Given the description of an element on the screen output the (x, y) to click on. 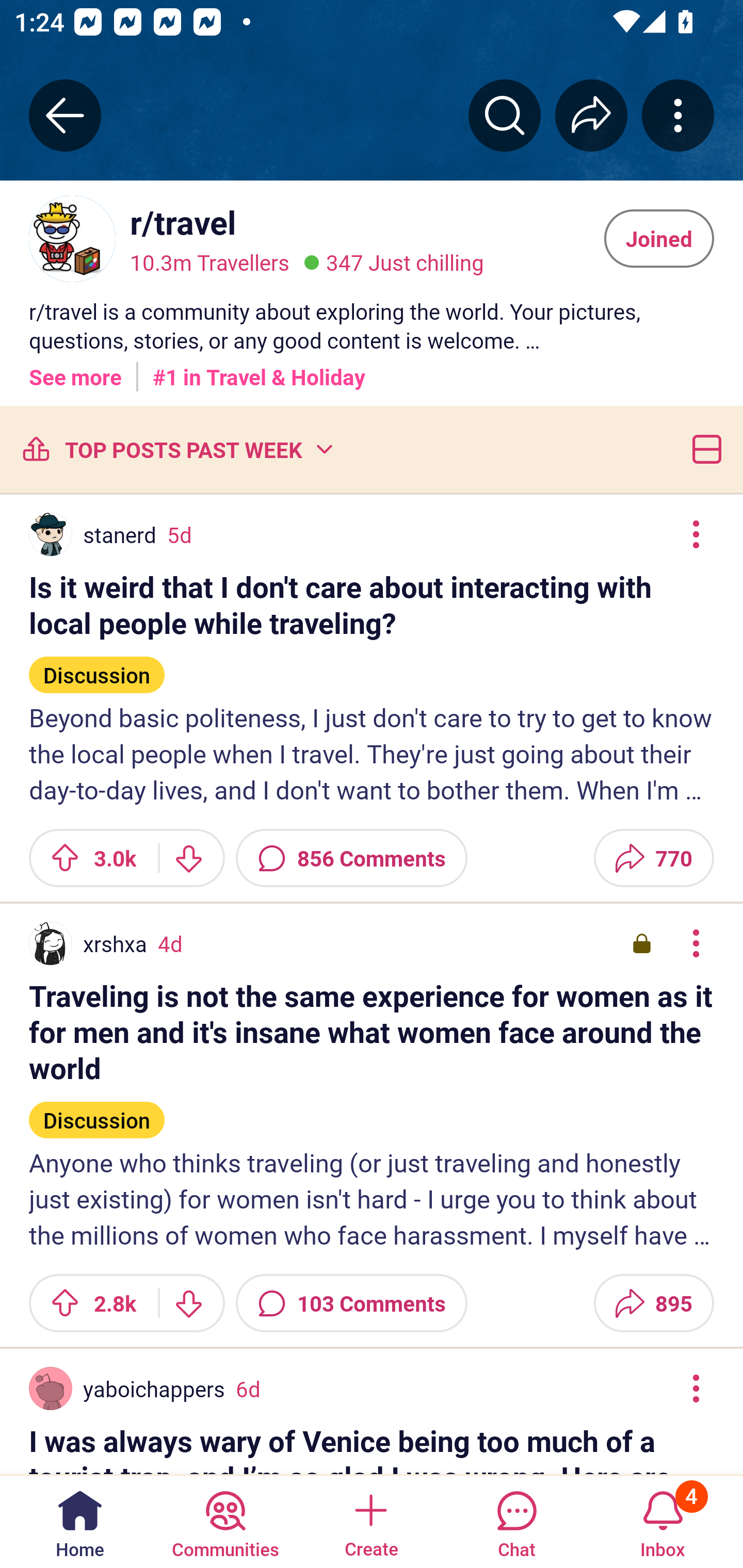
Back (64, 115)
Search r/﻿travel (504, 115)
Share r/﻿travel (591, 115)
More community actions (677, 115)
Top posts TOP POSTS PAST WEEK (176, 449)
Card (703, 449)
Discussion (96, 665)
Discussion (96, 1111)
Home (80, 1520)
Communities (225, 1520)
Create a post Create (370, 1520)
Chat (516, 1520)
Inbox, has 4 notifications 4 Inbox (662, 1520)
